Given the description of an element on the screen output the (x, y) to click on. 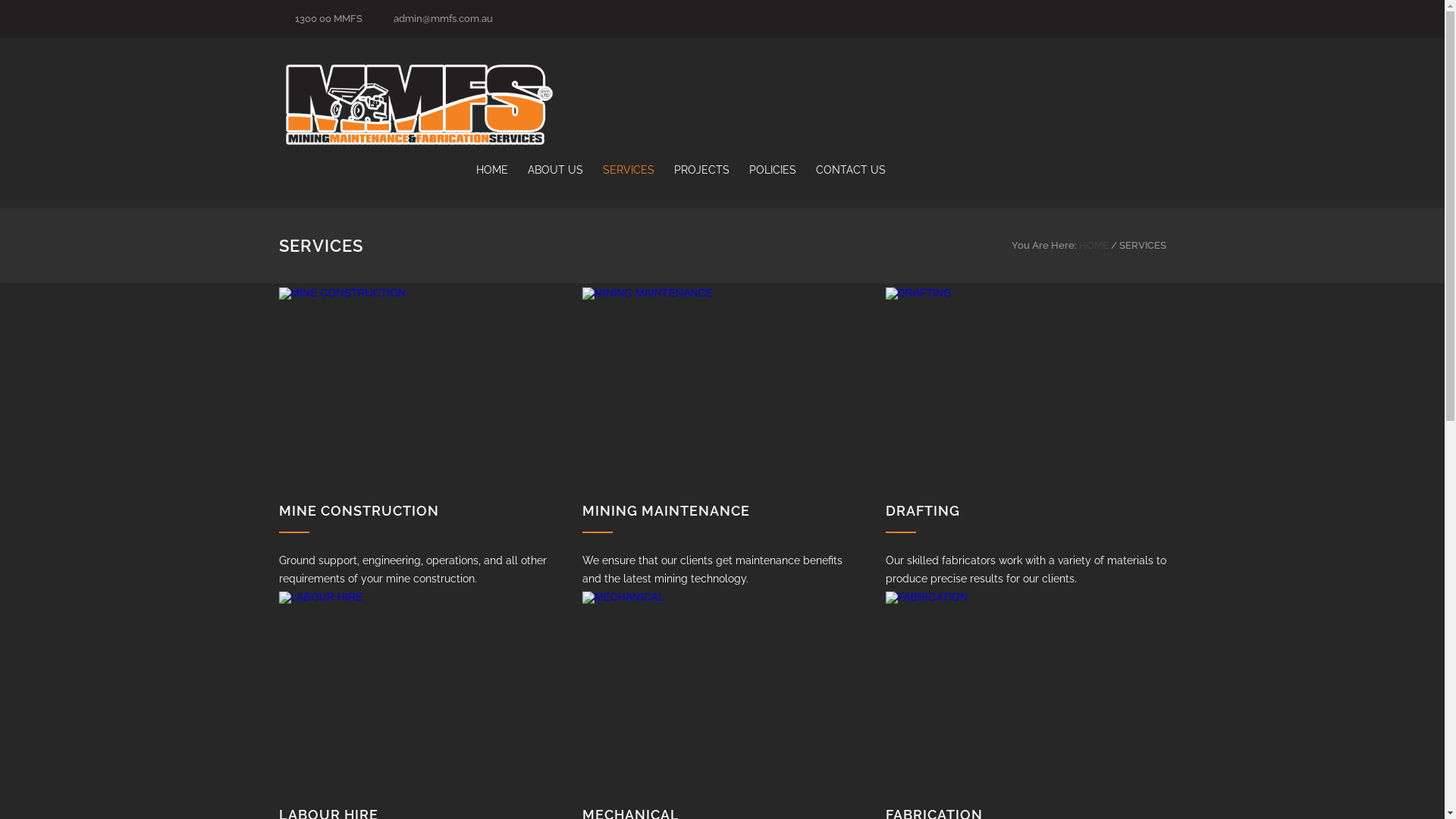
ABOUT US Element type: text (545, 169)
LABOUR HIRE Element type: hover (419, 698)
MINE CONSTRUCTION Element type: text (359, 510)
MINING MAINTENANCE Element type: hover (722, 394)
DRAFTING Element type: hover (1025, 394)
POLICIES Element type: text (762, 169)
FABRICATION Element type: hover (1025, 698)
MMFS Element type: hover (419, 104)
admin@mmfs.com.au Element type: text (442, 18)
DRAFTING Element type: text (922, 510)
SERVICES Element type: text (617, 169)
CONTACT US Element type: text (840, 169)
HOME Element type: text (1092, 245)
PROJECTS Element type: text (690, 169)
Search Element type: hover (1152, 12)
HOME Element type: text (492, 169)
MINE CONSTRUCTION Element type: hover (419, 394)
